Given the description of an element on the screen output the (x, y) to click on. 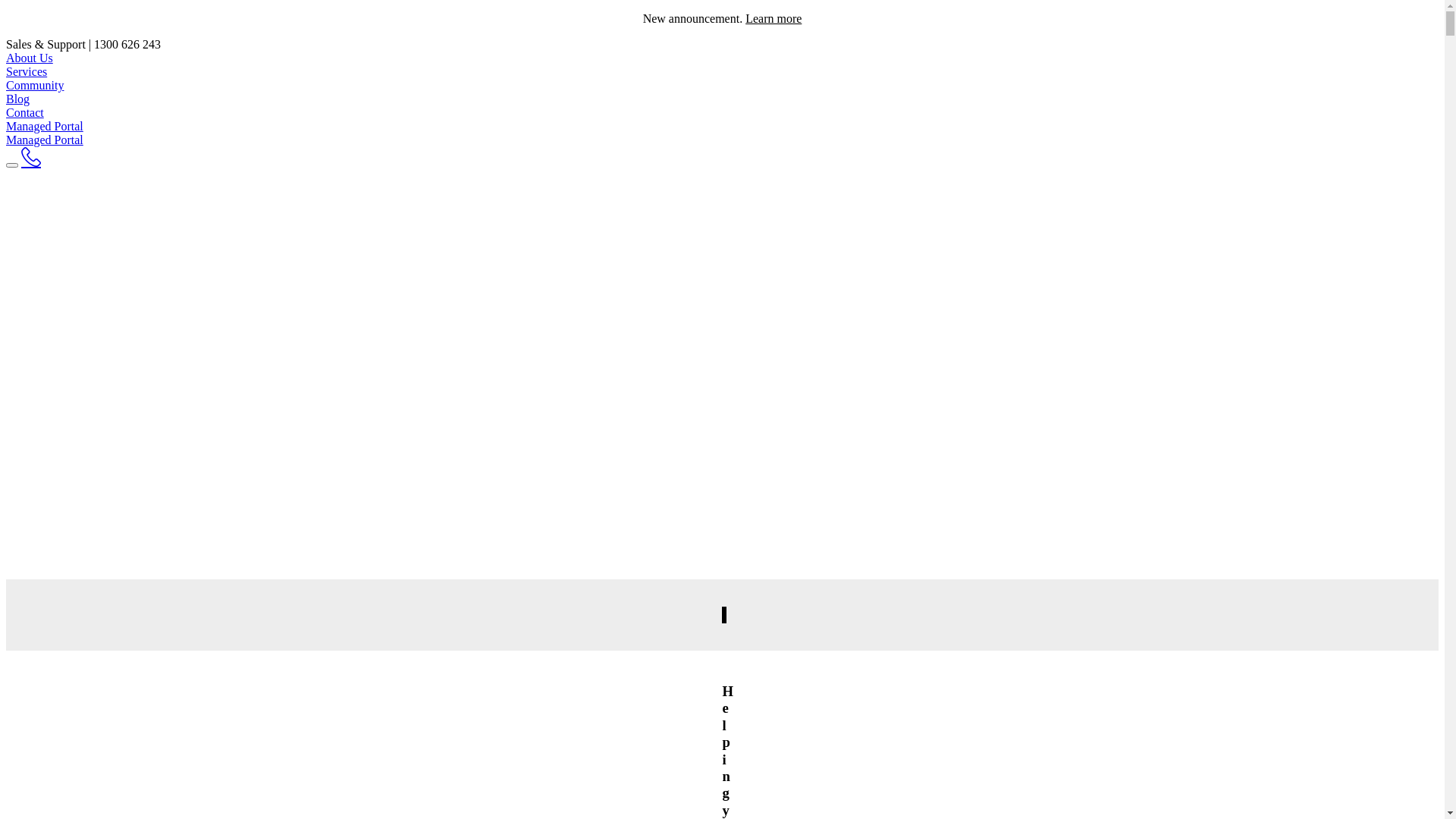
Managed Portal Element type: text (44, 125)
Contact Element type: text (24, 112)
Community Element type: text (34, 84)
Services Element type: text (26, 71)
Blog Element type: text (17, 98)
About Us Element type: text (29, 57)
Managed Portal Element type: text (44, 139)
